Given the description of an element on the screen output the (x, y) to click on. 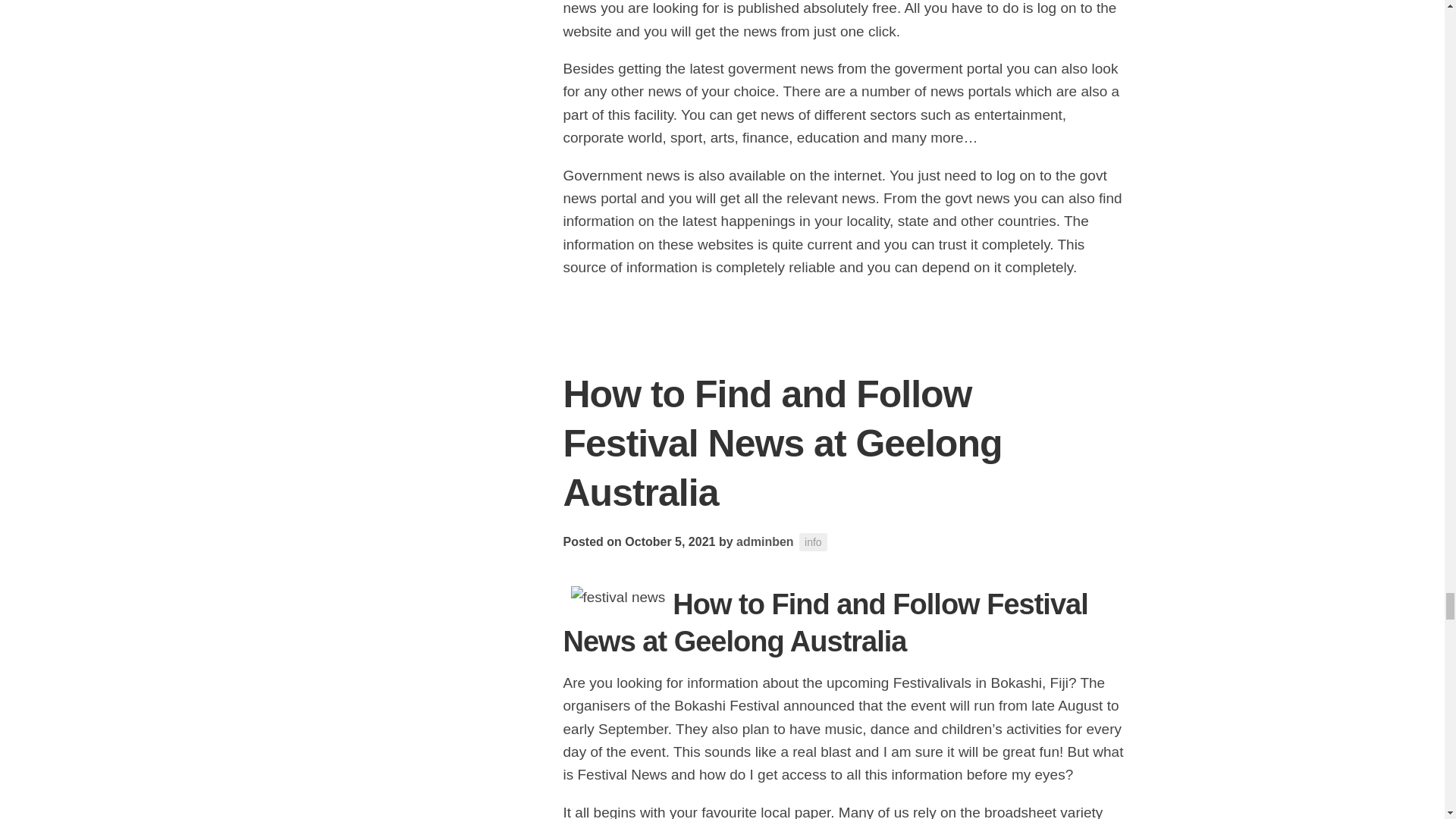
Posts by adminben (764, 541)
